Given the description of an element on the screen output the (x, y) to click on. 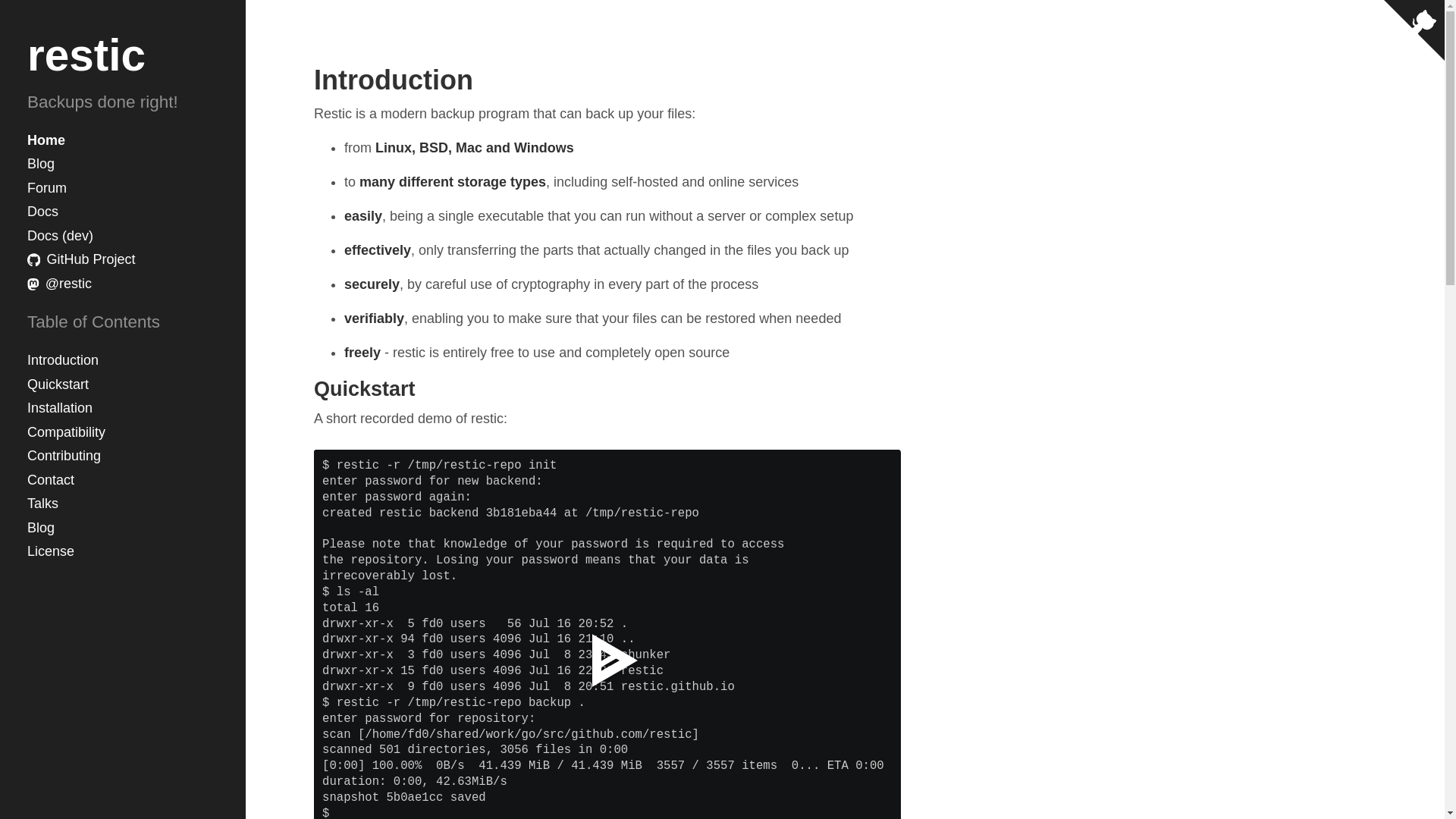
Contact (122, 480)
Contributing (122, 456)
License (122, 551)
Forum (122, 188)
Blog (122, 528)
GitHub Project (122, 259)
Compatibility (122, 432)
Quickstart (122, 385)
Home (122, 140)
Introduction (122, 360)
Installation (122, 408)
Talks (122, 504)
Docs (122, 211)
restic (86, 54)
